Given the description of an element on the screen output the (x, y) to click on. 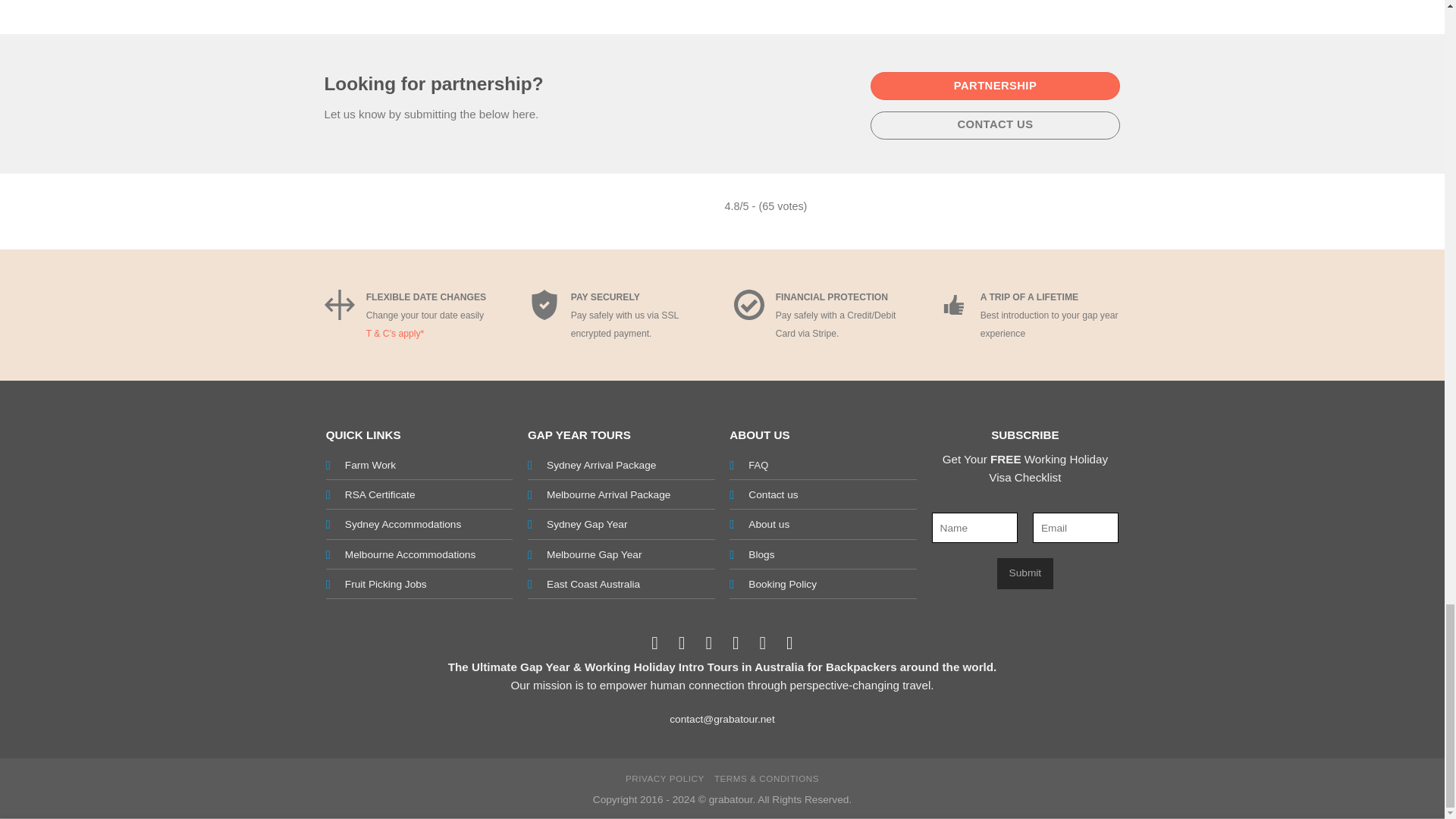
good (954, 303)
Follow on LinkedIn (762, 642)
Follow on Facebook (654, 642)
Follow on Pinterest (735, 642)
Follow on X (708, 642)
Follow on Instagram (681, 642)
Follow on YouTube (789, 642)
